Given the description of an element on the screen output the (x, y) to click on. 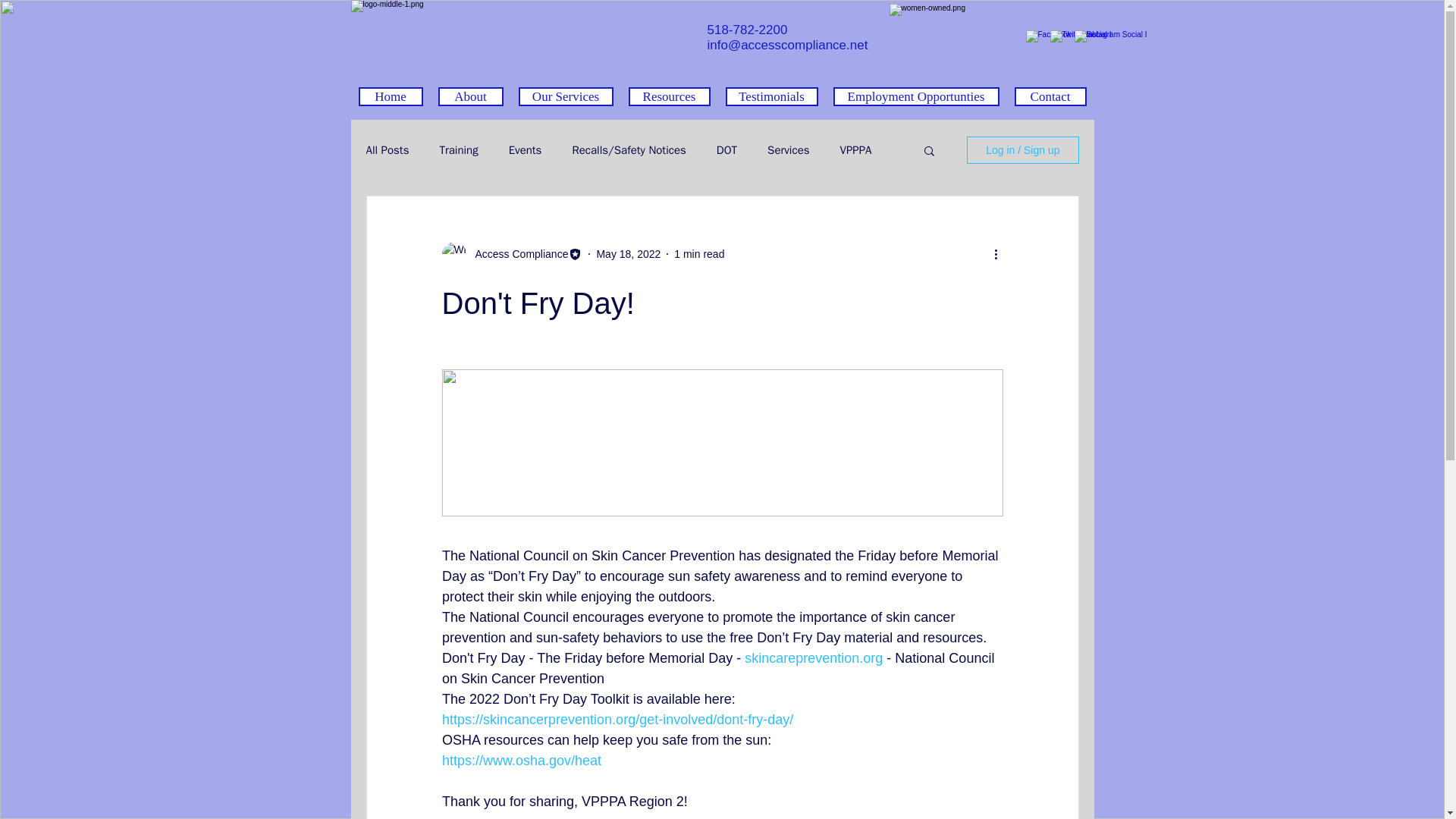
1 min read (698, 253)
DOT (726, 149)
Home (390, 96)
Events (524, 149)
Training (458, 149)
Contact (1050, 96)
Services (788, 149)
Our Services (565, 96)
About (470, 96)
All Posts (387, 149)
